Given the description of an element on the screen output the (x, y) to click on. 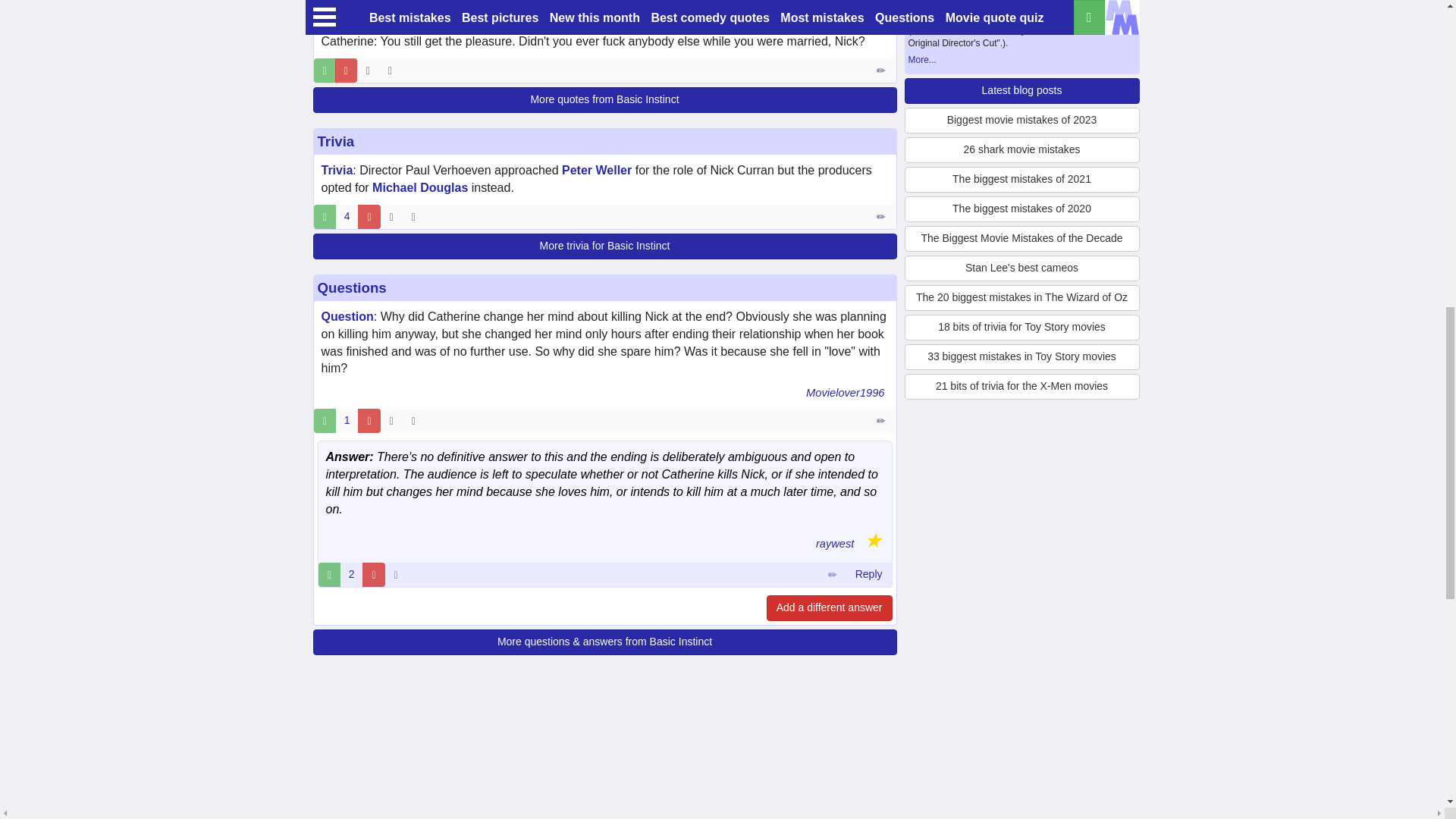
Share this entry (392, 70)
I like this (325, 70)
I dislike this (345, 70)
